Given the description of an element on the screen output the (x, y) to click on. 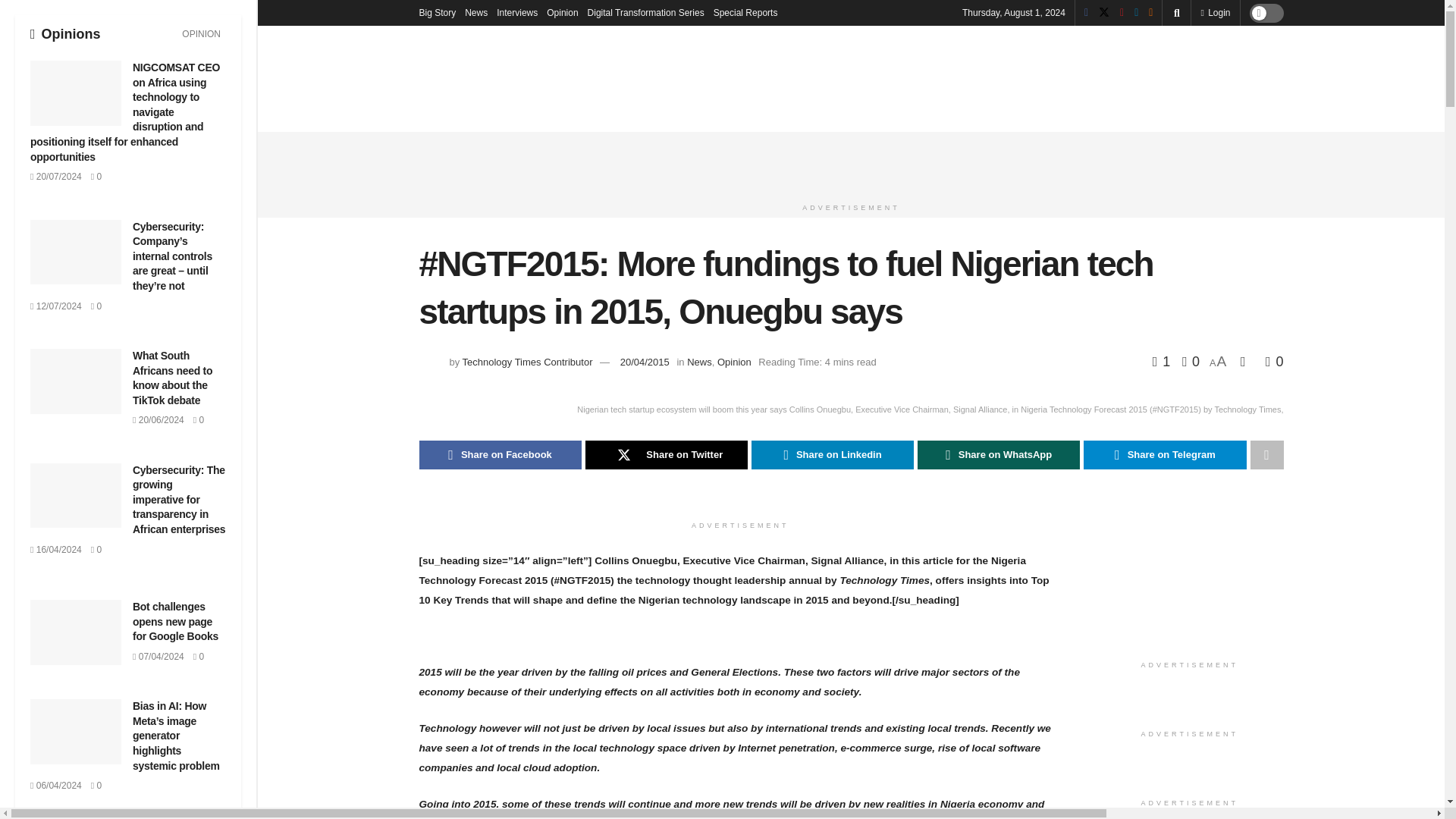
0 (95, 785)
0 (198, 419)
0 (95, 549)
What South Africans need to know about the TikTok debate (172, 377)
0 (95, 306)
Bot challenges opens new page for Google Books (175, 621)
Opinions (65, 33)
0 (198, 656)
0 (95, 176)
OPINION (200, 33)
